Given the description of an element on the screen output the (x, y) to click on. 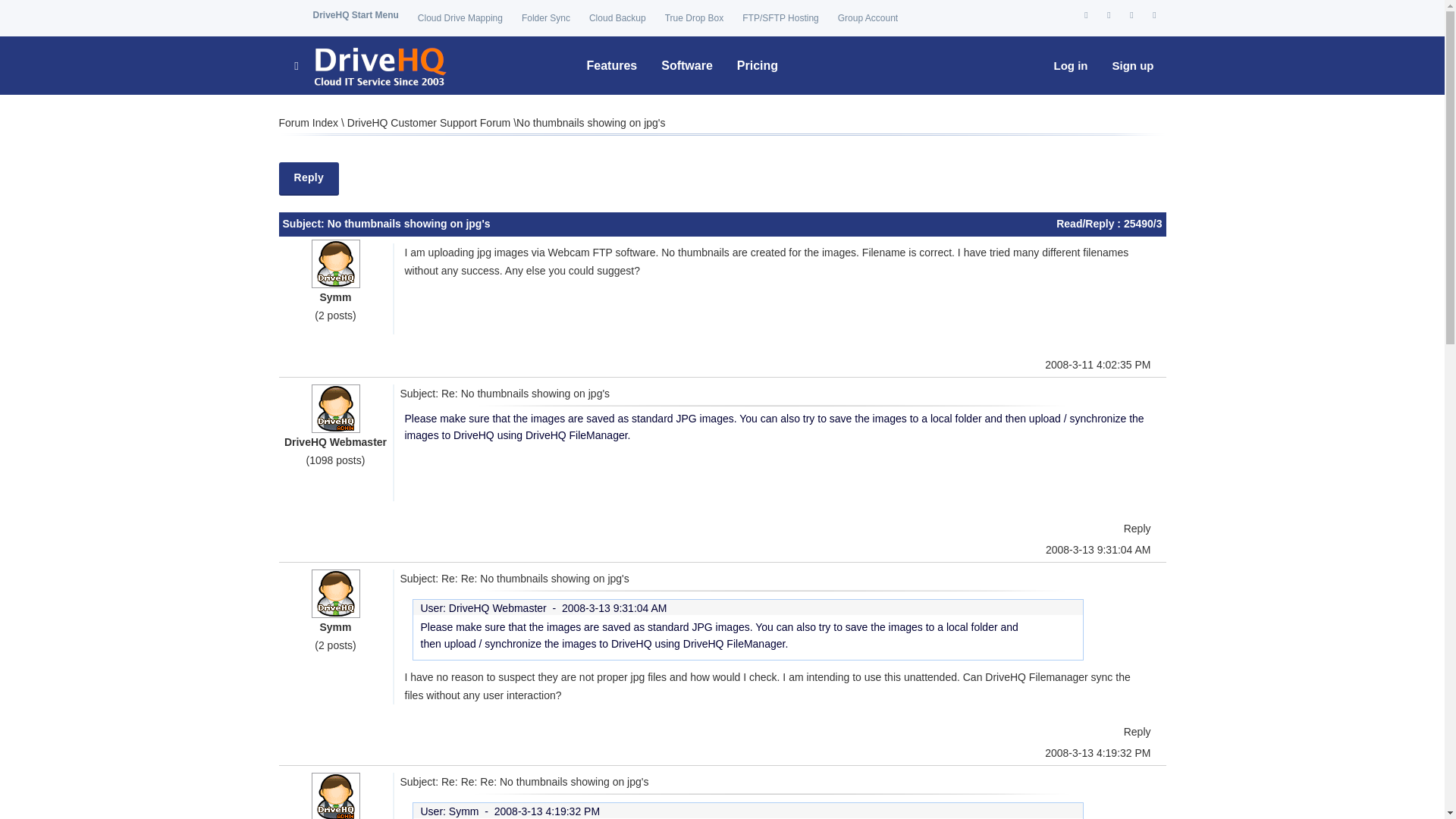
Folder Sync (545, 18)
DriveHQ Cloud IT Service Home (369, 65)
DriveHQ Start Menu (355, 15)
Automatically back up PC, Mac and Server to the cloud (617, 18)
Complete FTP Server hosting solution (780, 18)
True Drop Box (694, 18)
Cloud Backup (617, 18)
Group Account (868, 18)
Cloud Drive Mapping (459, 18)
